Given the description of an element on the screen output the (x, y) to click on. 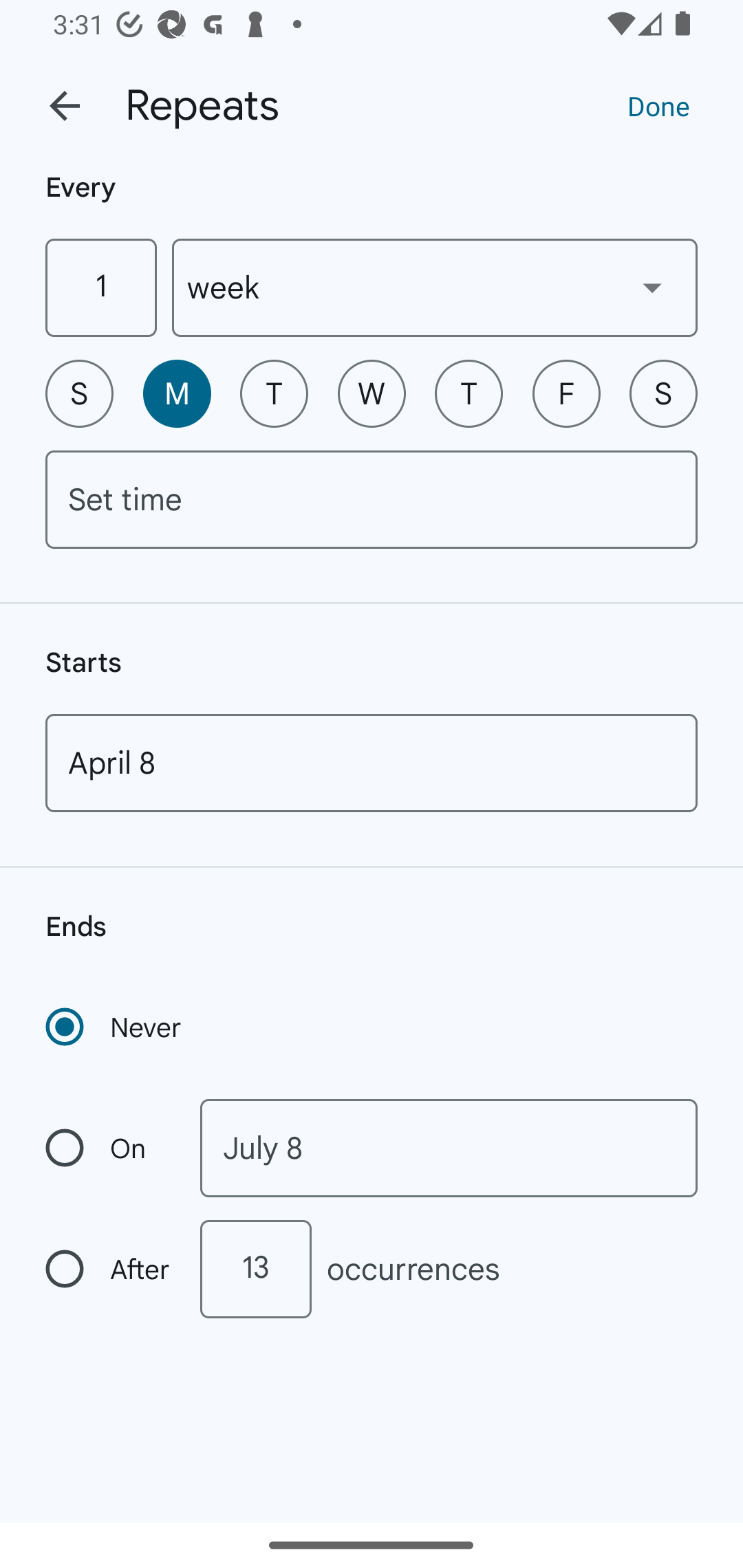
Back (64, 105)
Done (658, 105)
1 (100, 287)
week (434, 287)
Show dropdown menu (652, 286)
S Sunday (79, 393)
M Monday, selected (177, 393)
T Tuesday (273, 393)
W Wednesday (371, 393)
T Thursday (468, 393)
F Friday (566, 393)
S Saturday (663, 393)
Set time (371, 499)
April 8 (371, 762)
Never Recurrence never ends (115, 1026)
July 8 (448, 1148)
On Recurrence ends on a specific date (109, 1148)
13 (255, 1268)
